Given the description of an element on the screen output the (x, y) to click on. 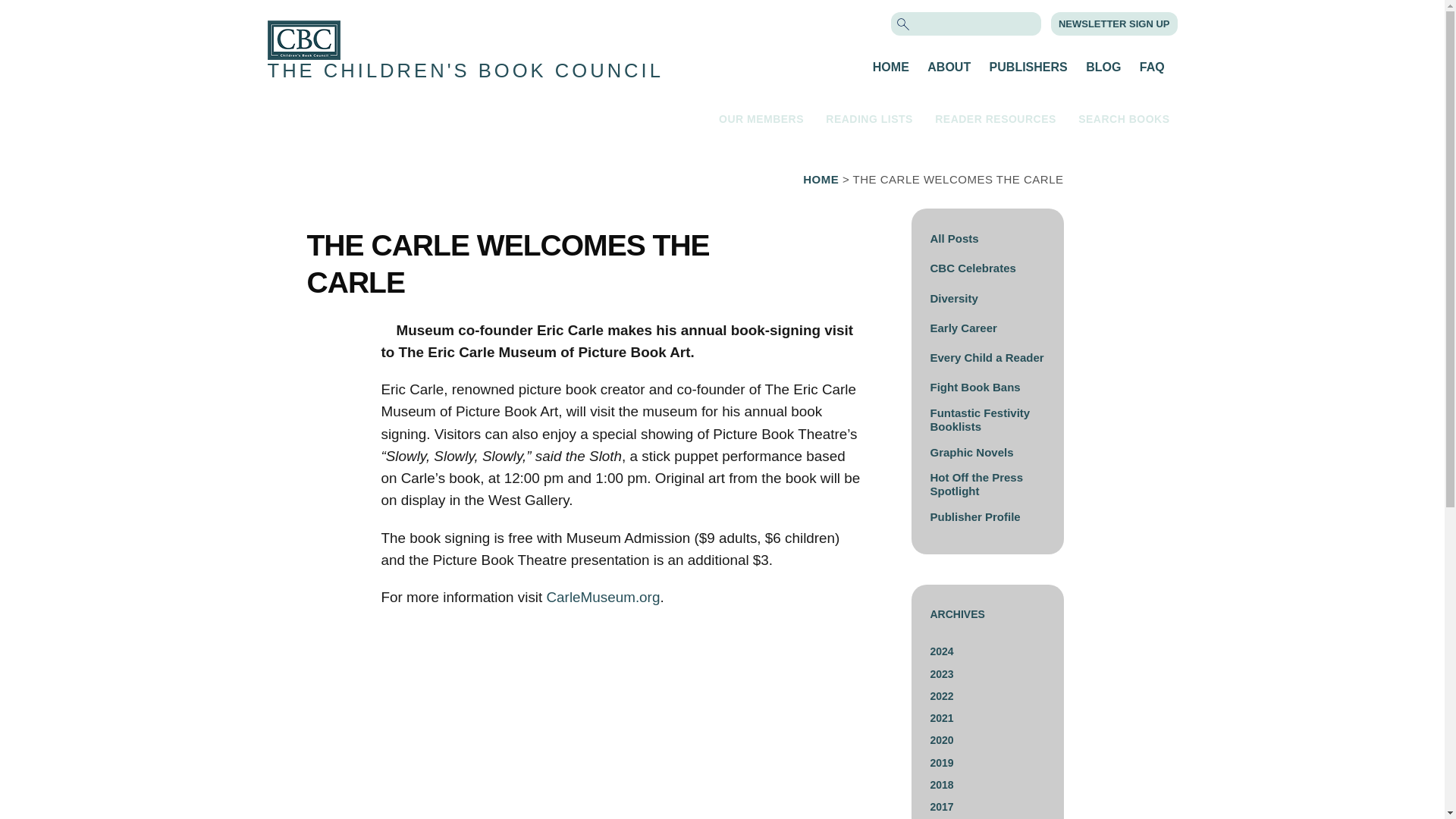
Funtastic Festivity Booklists (979, 419)
CBC Celebrates (972, 267)
HOME (890, 66)
HOME (820, 178)
FAQ (1152, 66)
Search (39, 13)
2024 (941, 651)
THE CHILDREN'S BOOK COUNCIL (464, 70)
SEARCH BOOKS (1123, 118)
CarleMuseum.org (602, 596)
Graphic Novels (971, 451)
BLOG (1103, 66)
All Posts (954, 237)
PUBLISHERS (1028, 66)
Every Child a Reader (986, 357)
